Given the description of an element on the screen output the (x, y) to click on. 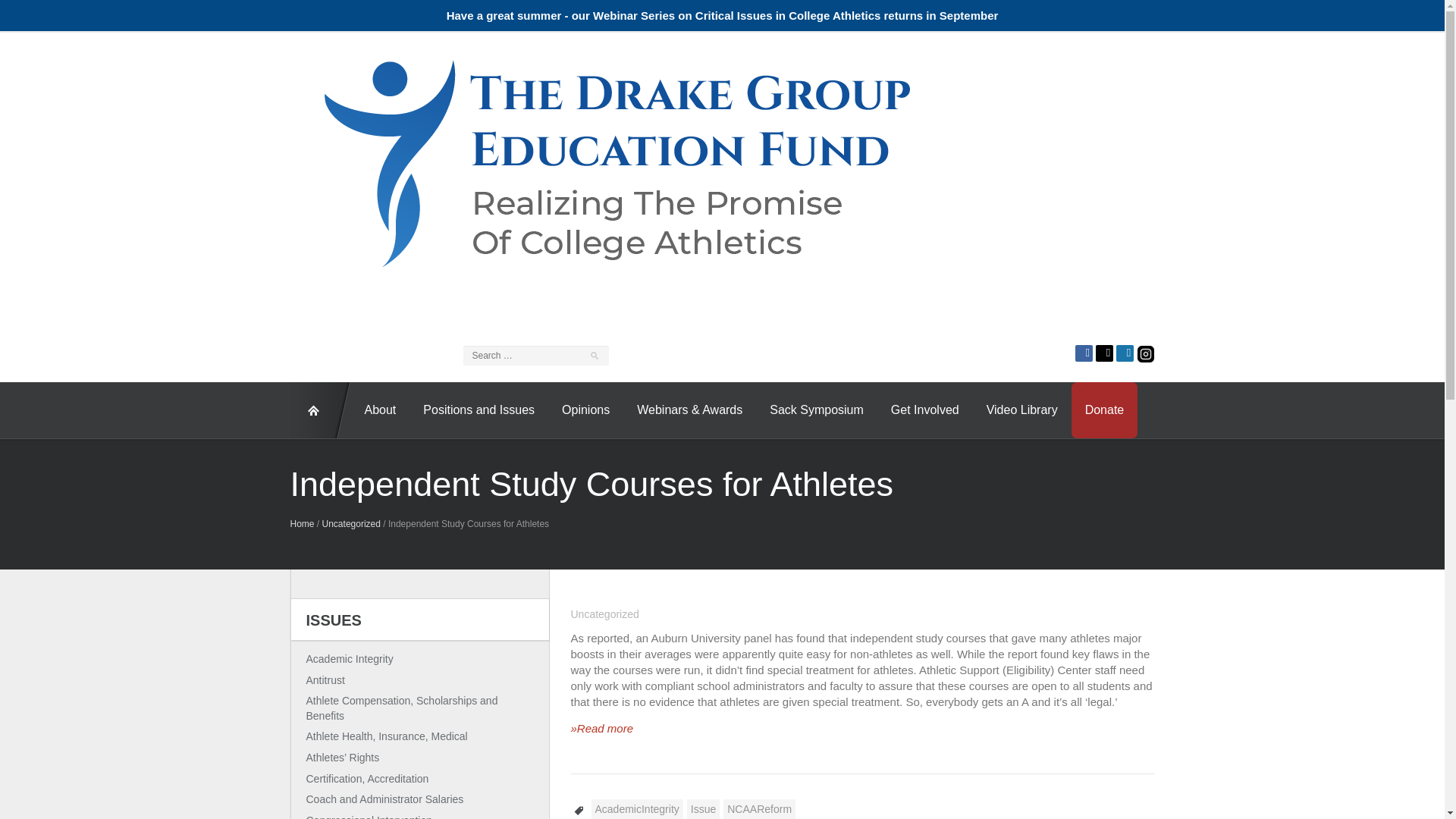
Donate (1104, 410)
Opinions (585, 410)
About (379, 410)
Search (18, 11)
Get Involved (924, 410)
Positions and Issues (478, 410)
Sack Symposium (816, 410)
The Drake Group Education Fund (614, 160)
Video Library (1021, 410)
Home (301, 523)
